Given the description of an element on the screen output the (x, y) to click on. 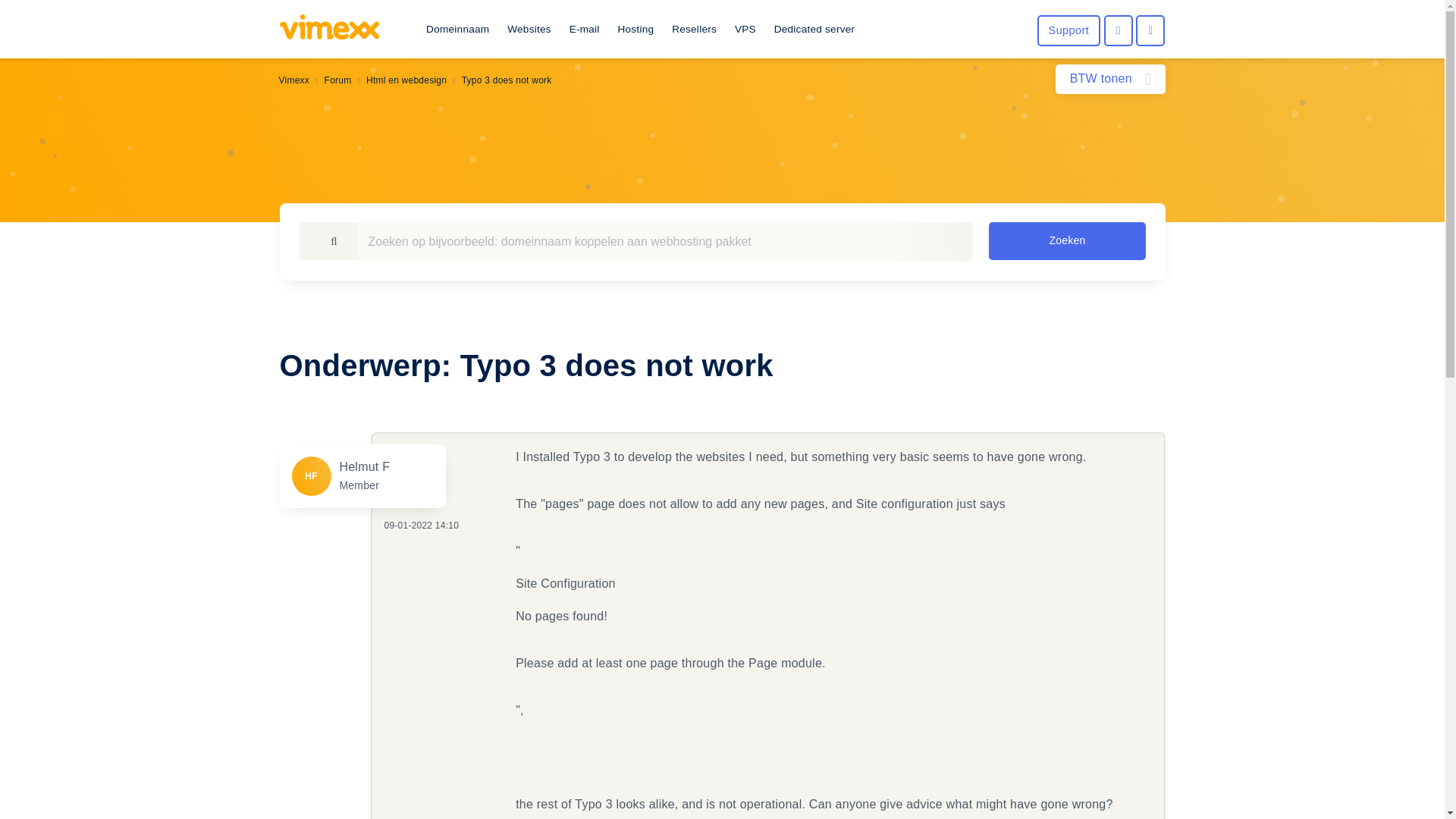
VPS (744, 29)
Vimexx (328, 29)
Mijn Vimexx (1117, 30)
Domeinnaam (457, 29)
Dedicated server (814, 29)
Resellers (694, 29)
Support (1068, 30)
Resellers (694, 29)
Websites (529, 29)
E-mail (584, 29)
